Given the description of an element on the screen output the (x, y) to click on. 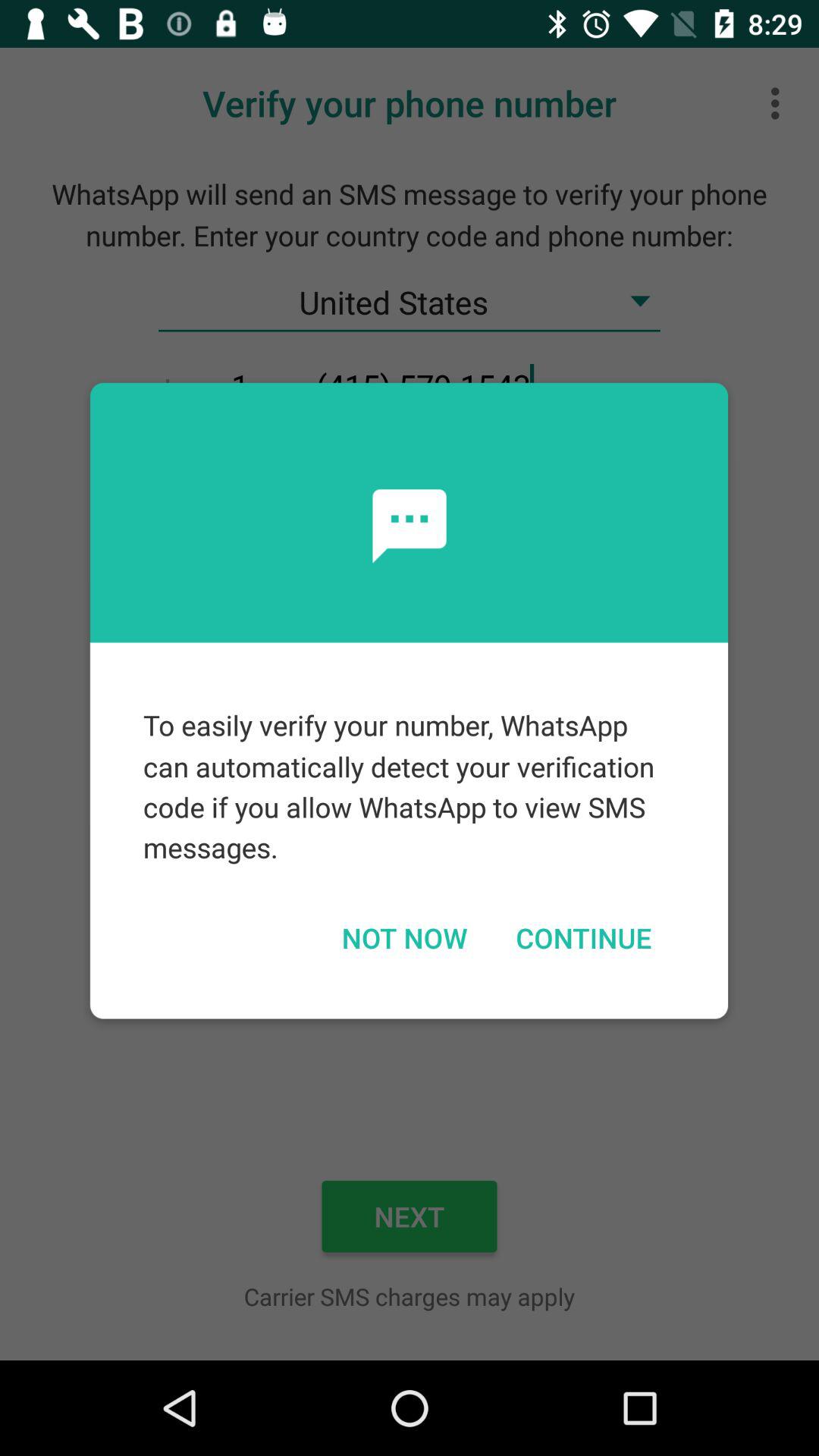
launch the icon below to easily verify (403, 937)
